Given the description of an element on the screen output the (x, y) to click on. 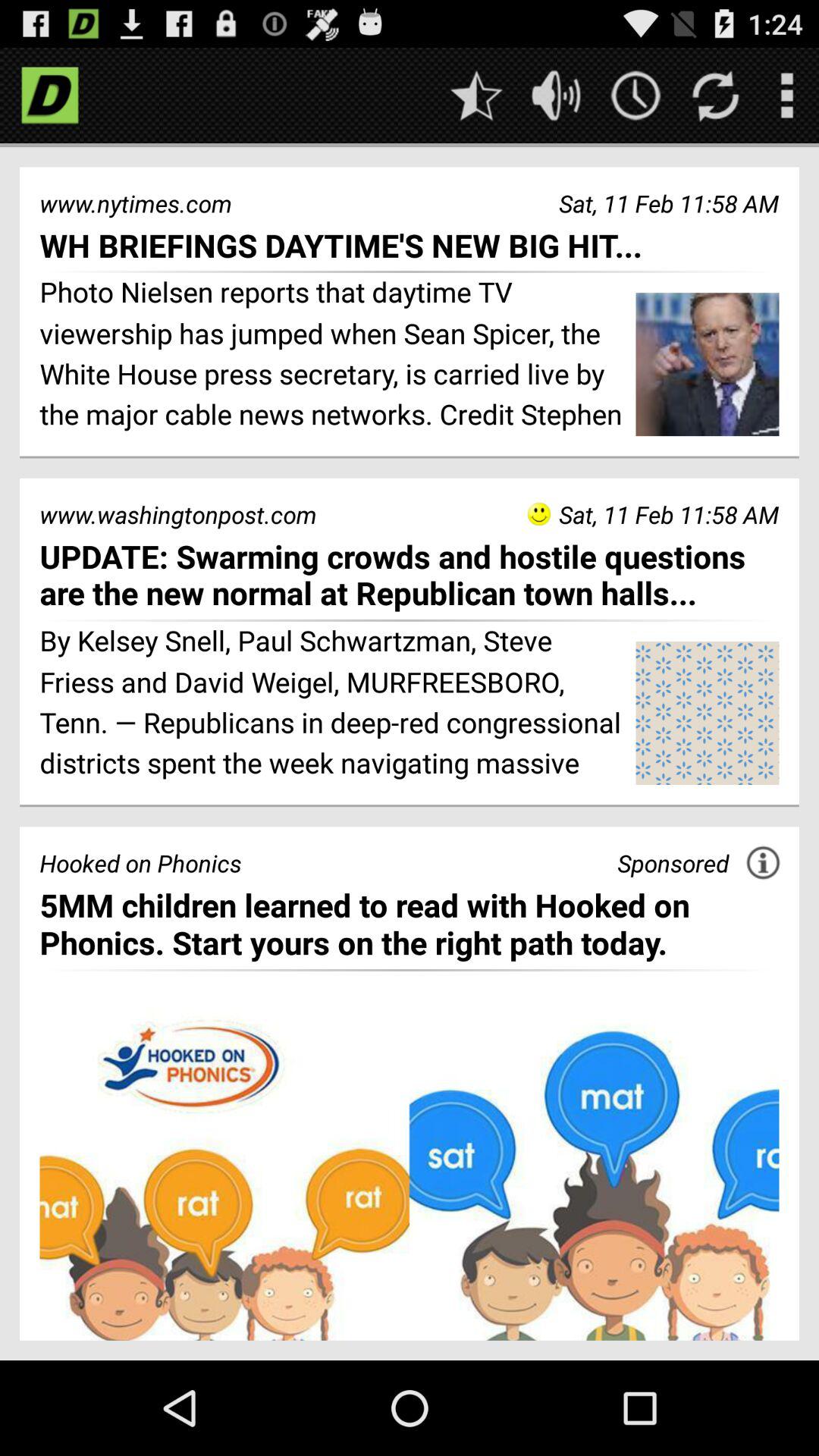
turn on icon to the right of sponsored item (763, 862)
